Given the description of an element on the screen output the (x, y) to click on. 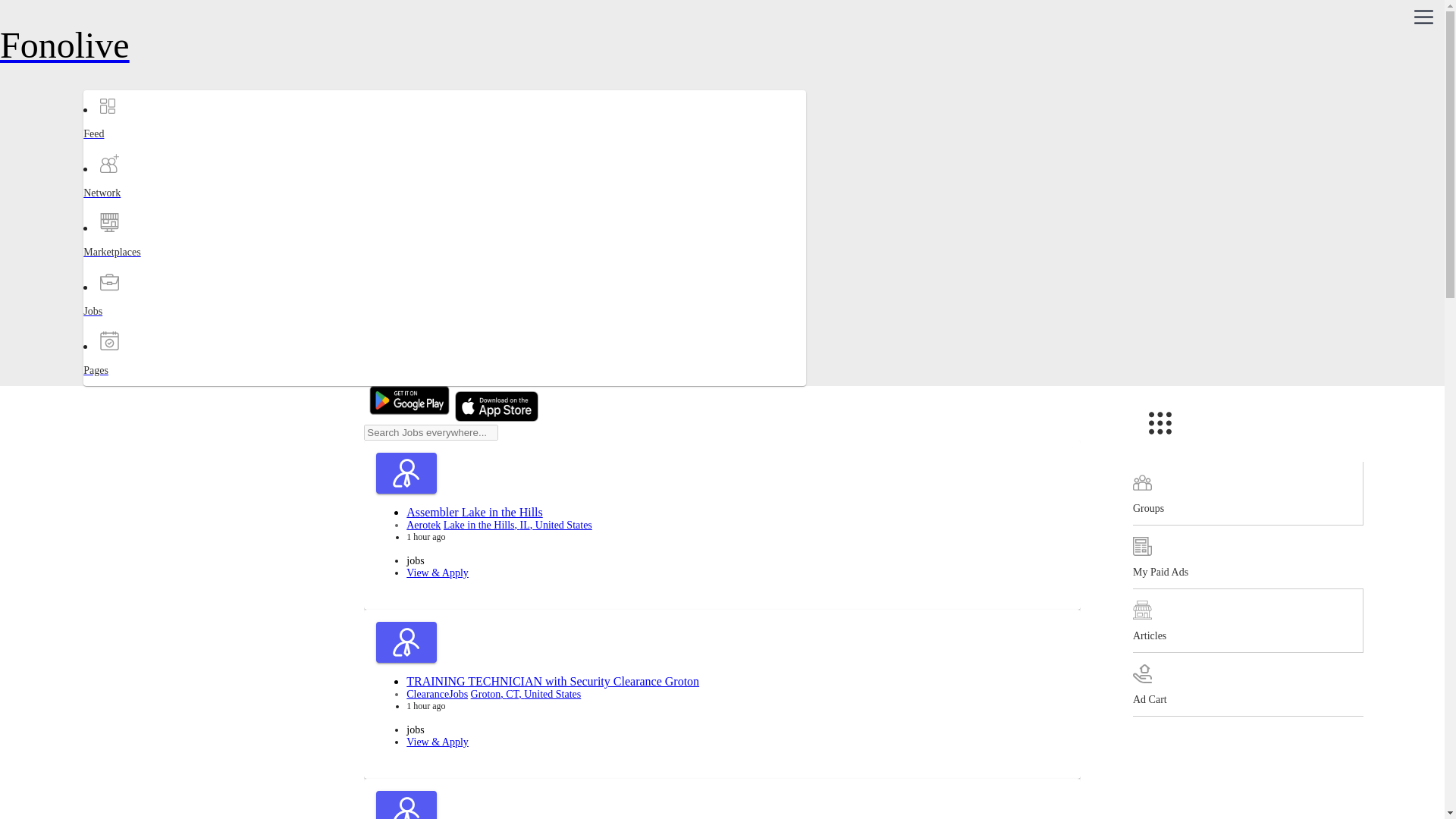
Pages (142, 384)
Groton, CT, United States (525, 694)
Jobs (142, 325)
Assembler Lake in the Hills (474, 512)
My Paid Ads (1247, 556)
ClearanceJobs (436, 694)
Articles (1247, 620)
Ad Cart (1247, 684)
Lake in the Hills, IL, United States (518, 524)
Marketplaces (142, 265)
TRAINING TECHNICIAN with Security Clearance Groton (552, 680)
Feed (142, 147)
Groups (1247, 493)
Aerotek (423, 524)
Network (142, 206)
